Given the description of an element on the screen output the (x, y) to click on. 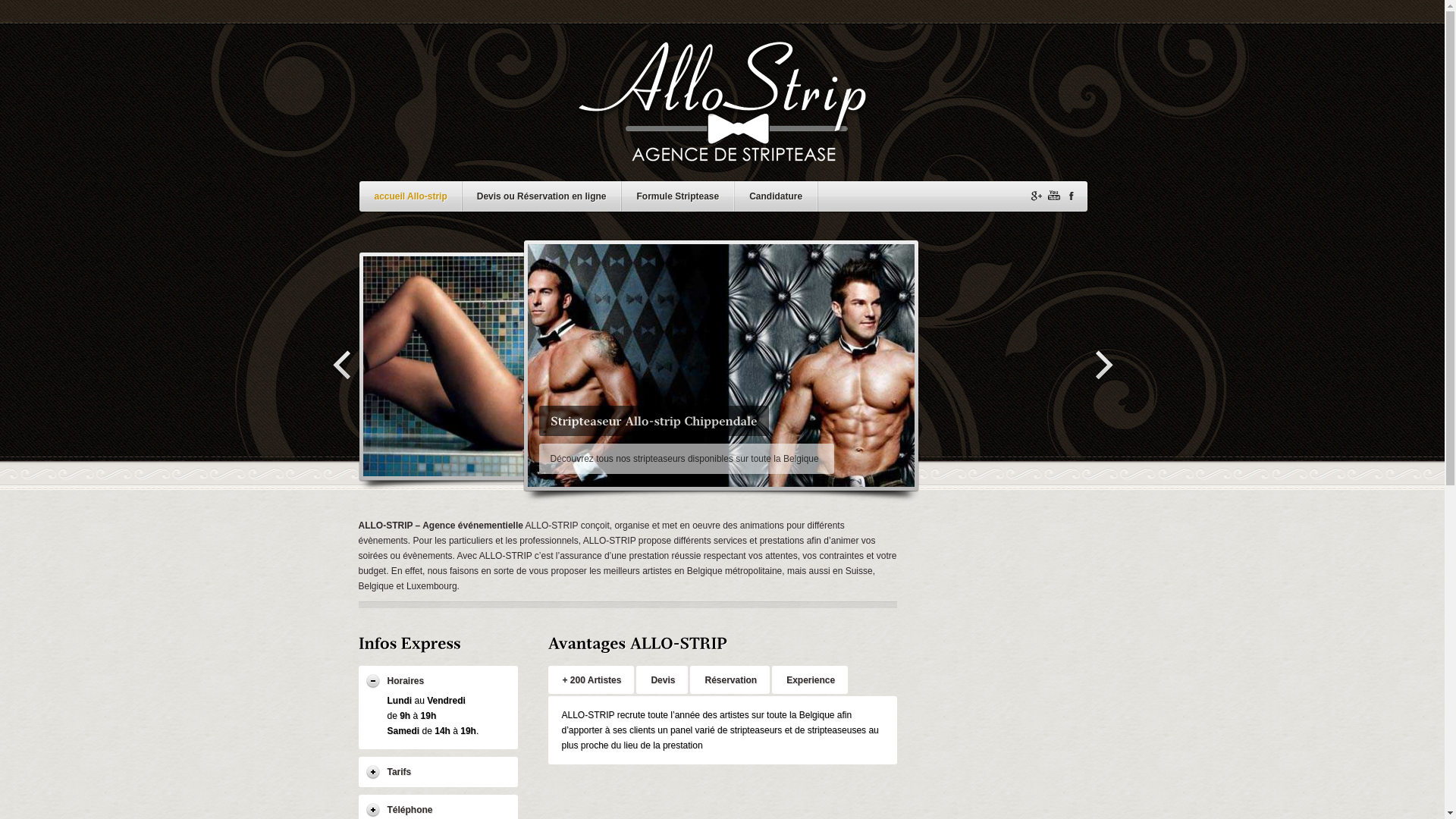
Horaires Element type: text (437, 680)
Experience Element type: text (809, 679)
Tarifs Element type: text (437, 771)
accueil Allo-strip Element type: text (408, 199)
+ 200 Artistes Element type: text (590, 679)
Candidature Element type: text (775, 199)
Formule Striptease Element type: text (677, 199)
Devis Element type: text (661, 679)
